Given the description of an element on the screen output the (x, y) to click on. 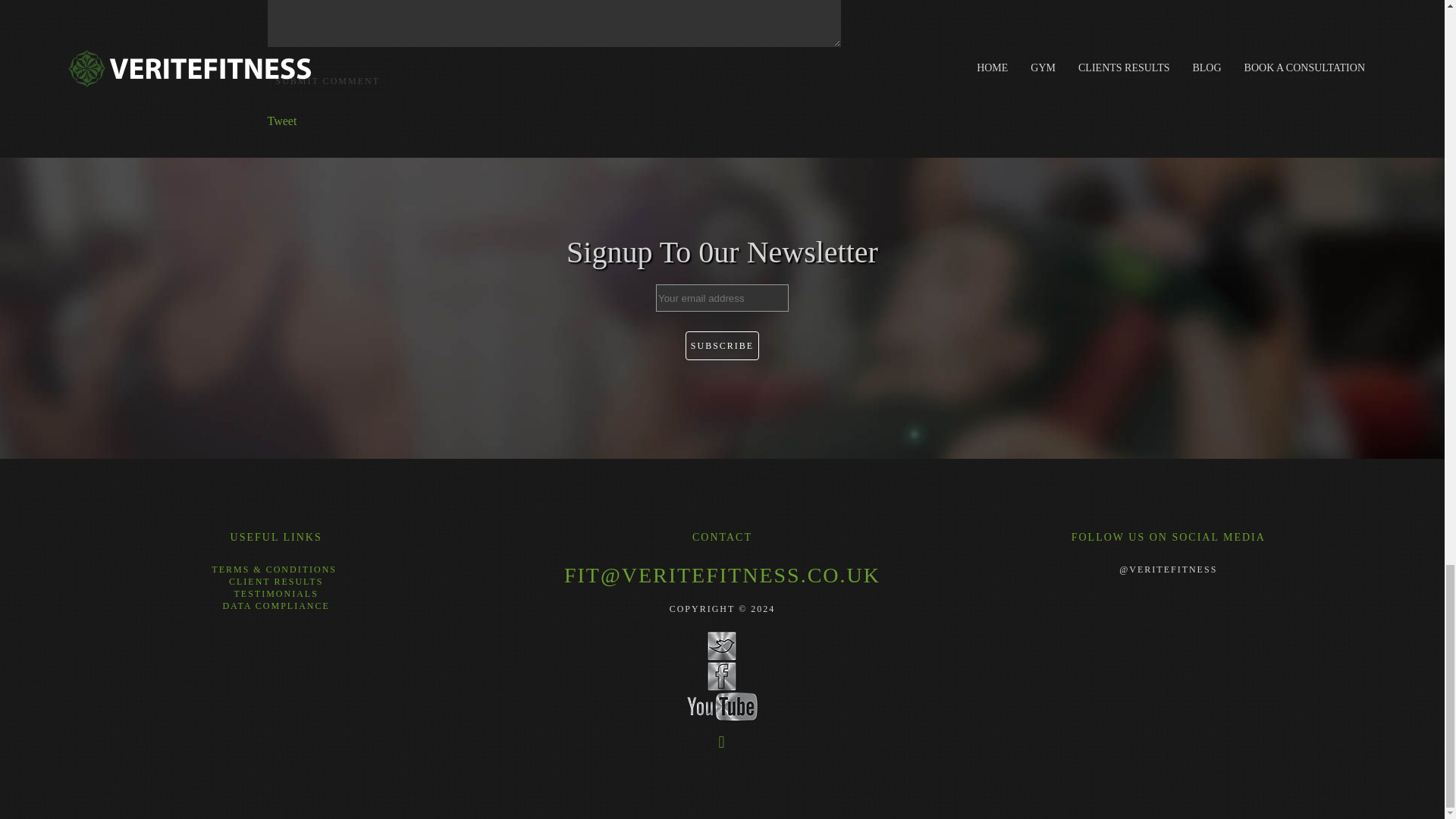
TESTIMONIALS (274, 593)
CLIENT RESULTS (275, 581)
Subscribe (721, 345)
DATA COMPLIANCE (275, 605)
SUBMIT COMMENT (326, 80)
Subscribe (721, 345)
Tweet (281, 120)
